Given the description of an element on the screen output the (x, y) to click on. 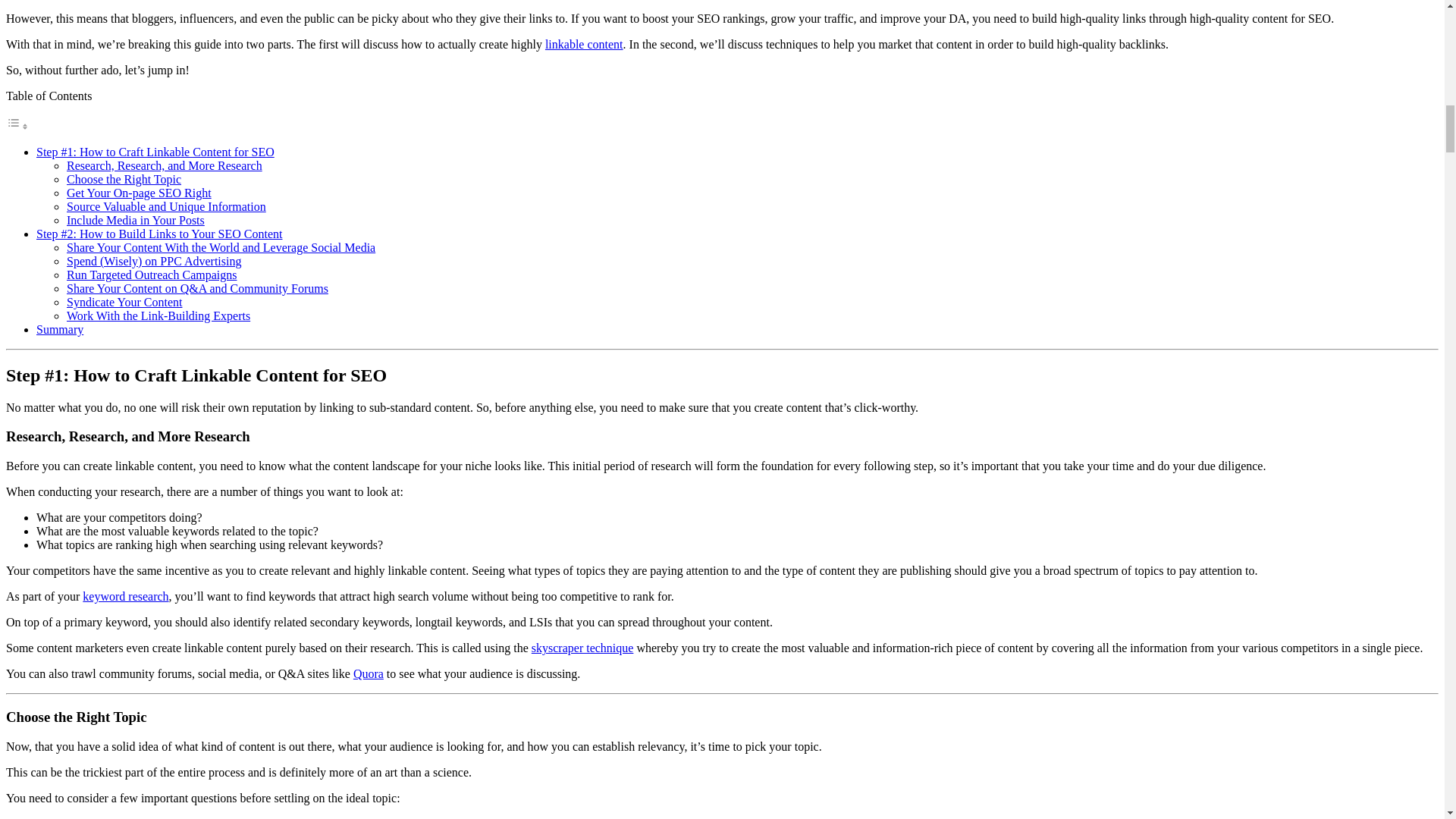
Source Valuable and Unique Information (166, 205)
Quora (368, 673)
Run Targeted Outreach Campaigns (150, 274)
Syndicate Your Content (124, 301)
Include Media in Your Posts (135, 219)
Work With the Link-Building Experts (158, 315)
Run Targeted Outreach Campaigns (150, 274)
Syndicate Your Content (124, 301)
Summary (59, 328)
Include Media in Your Posts (135, 219)
Research, Research, and More Research (164, 164)
Choose the Right Topic (123, 178)
keyword research (125, 595)
Summary (59, 328)
Share Your Content With the World and Leverage Social Media (220, 246)
